Given the description of an element on the screen output the (x, y) to click on. 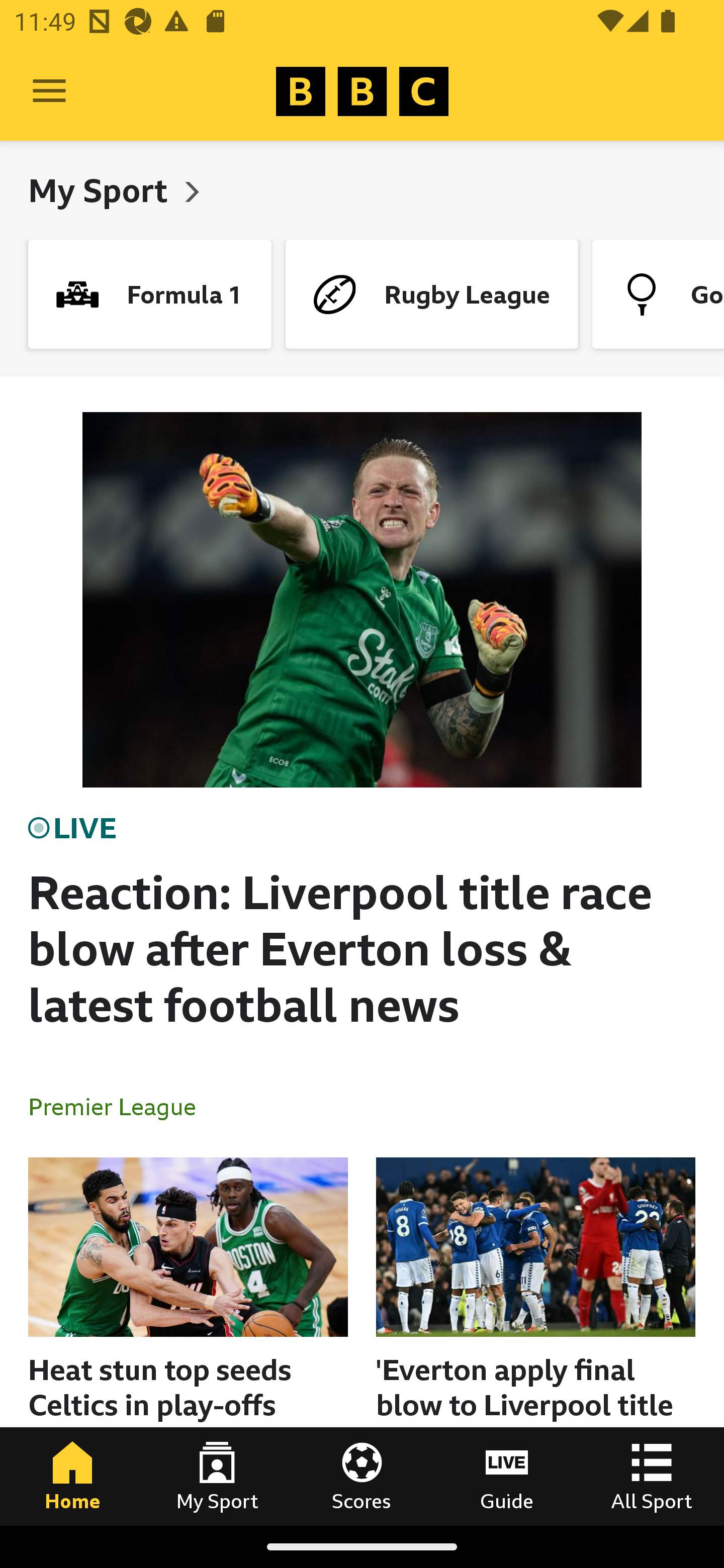
Open Menu (49, 91)
My Sport (101, 190)
Premier League In the section Premier League (119, 1106)
My Sport (216, 1475)
Scores (361, 1475)
Guide (506, 1475)
All Sport (651, 1475)
